Given the description of an element on the screen output the (x, y) to click on. 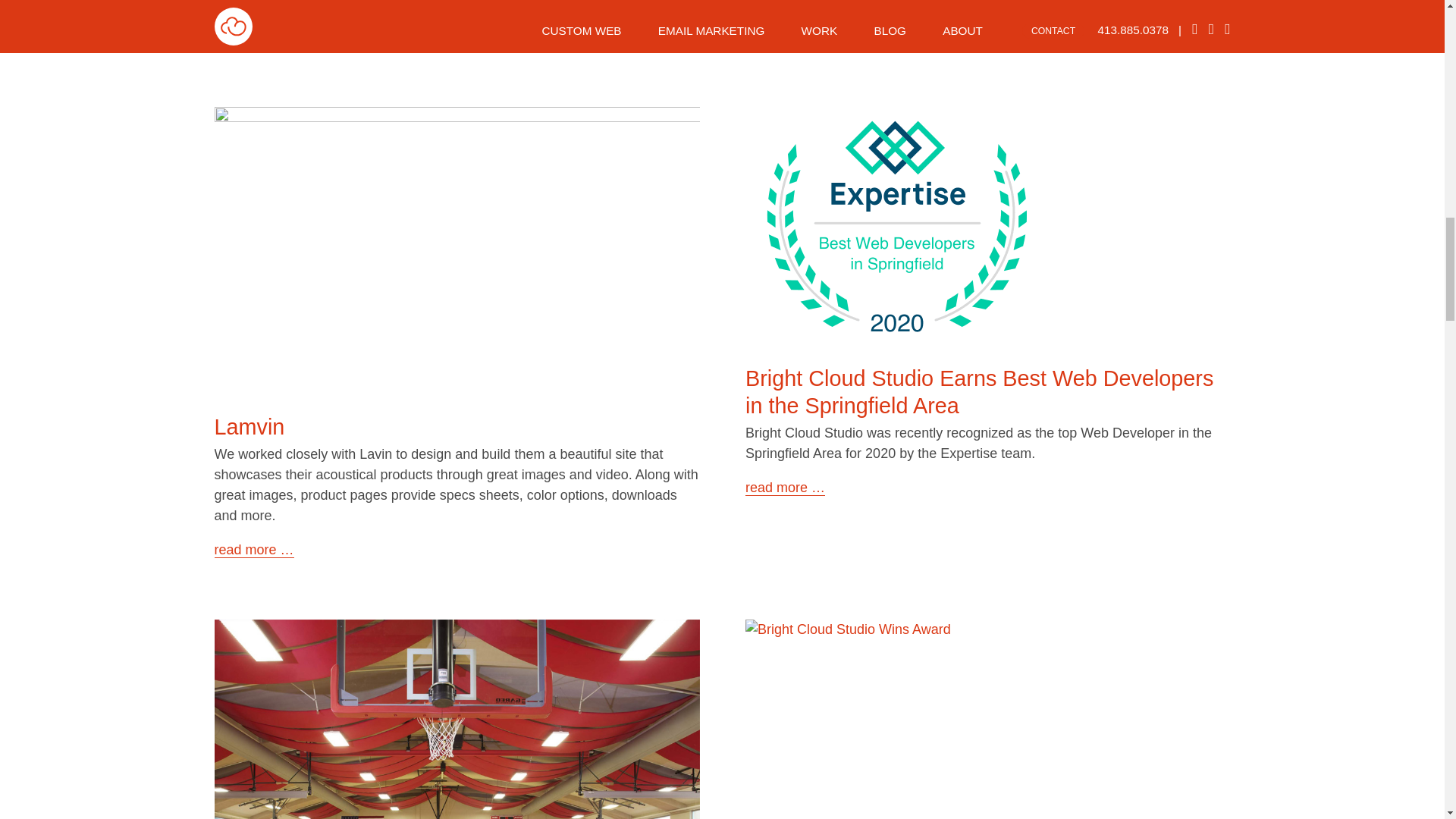
Lamvin (248, 426)
